Given the description of an element on the screen output the (x, y) to click on. 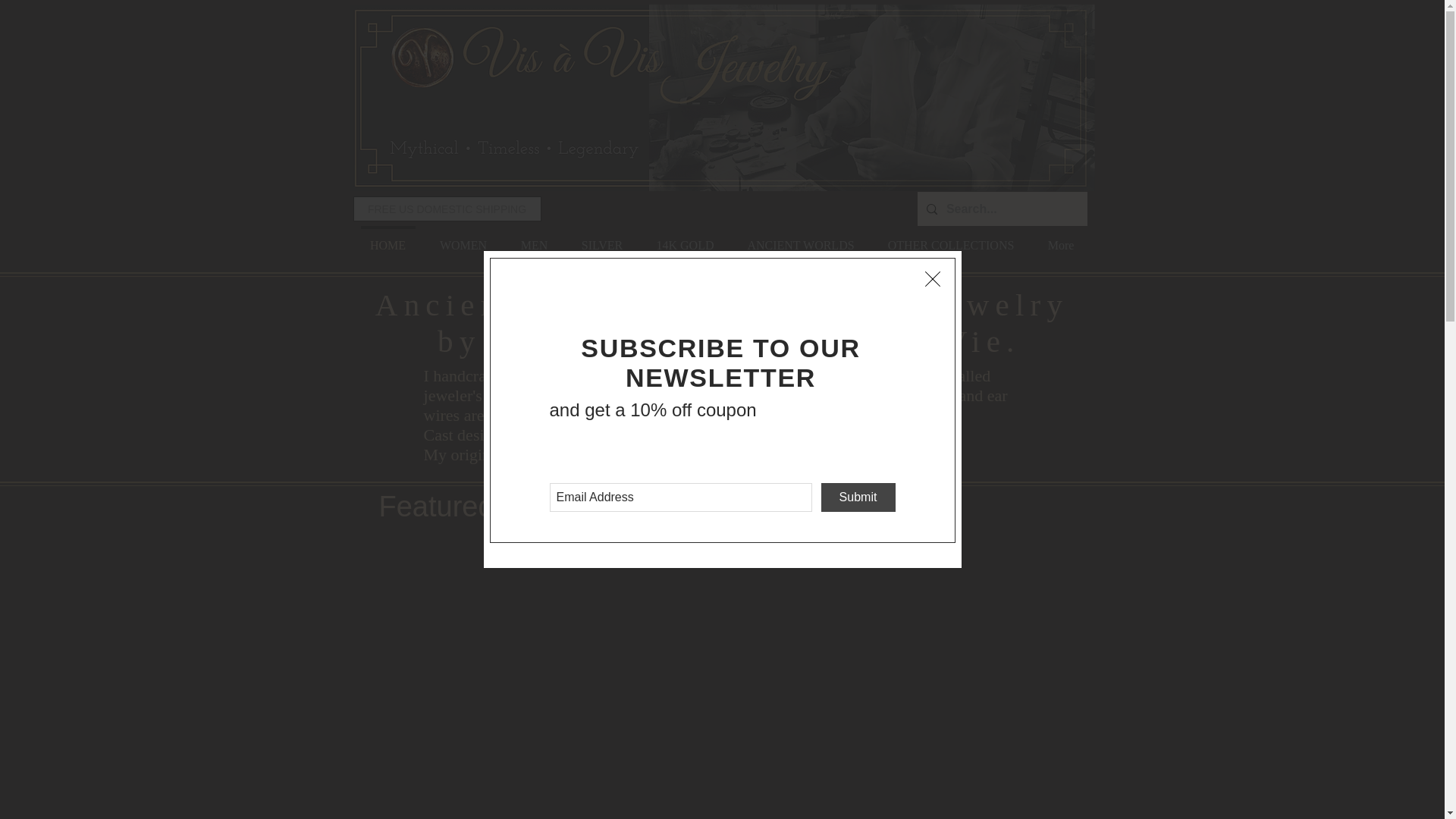
HOME (388, 238)
SILVER (601, 238)
FREE US DOMESTIC SHIPPING (447, 208)
14K GOLD (685, 238)
Vie a Vis Jewelry modile title (707, 97)
Back to site (932, 278)
